Given the description of an element on the screen output the (x, y) to click on. 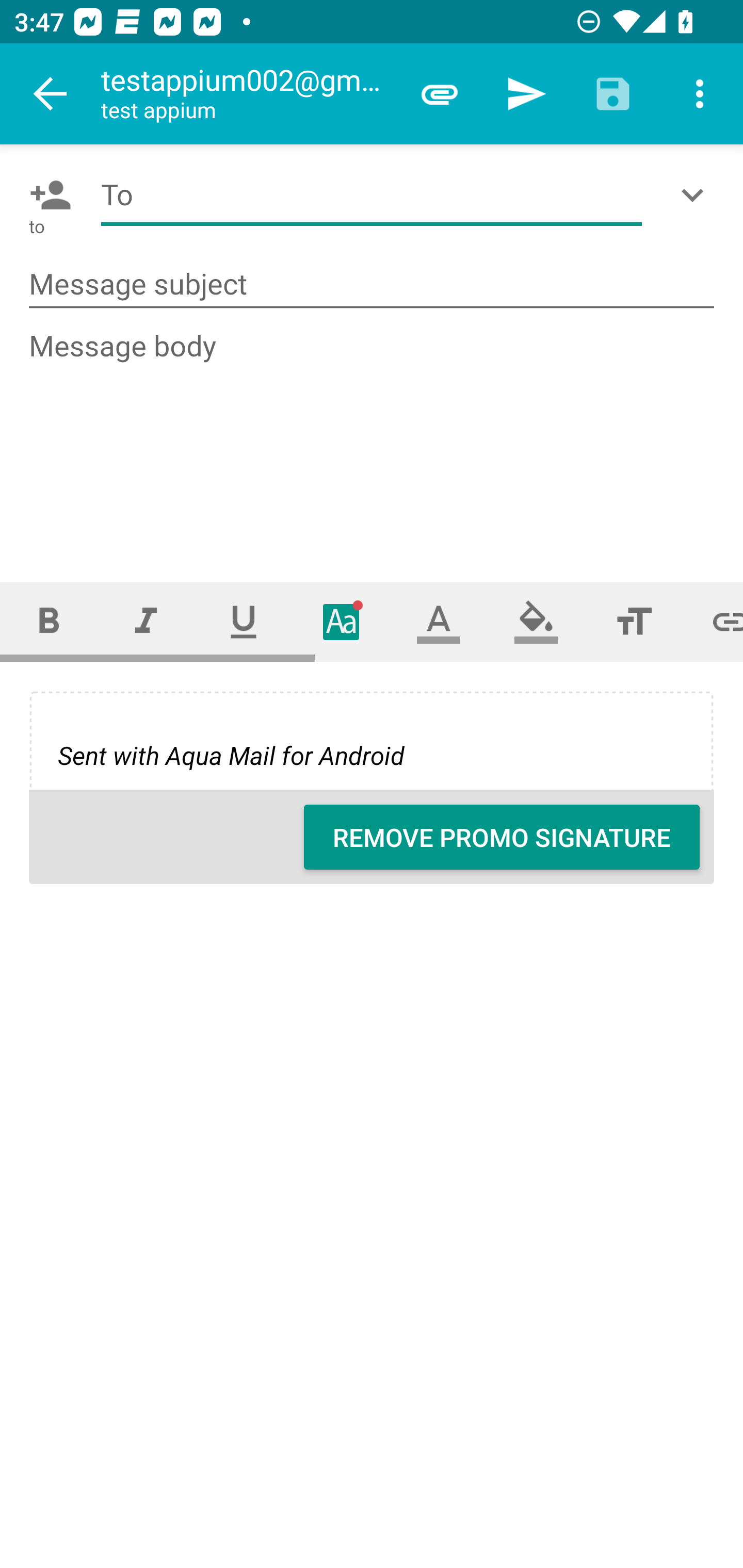
Navigate up (50, 93)
testappium002@gmail.com test appium (248, 93)
Attach (439, 93)
Send (525, 93)
Save (612, 93)
More options (699, 93)
Pick contact: To (46, 195)
Show/Add CC/BCC (696, 195)
To (371, 195)
Message subject (371, 284)
Bold (48, 621)
Italic (145, 621)
Underline (243, 621)
Typeface (font) (341, 621)
Text color (438, 621)
Fill color (536, 621)
Font size (633, 621)
Set link (712, 621)
REMOVE PROMO SIGNATURE (501, 837)
